Given the description of an element on the screen output the (x, y) to click on. 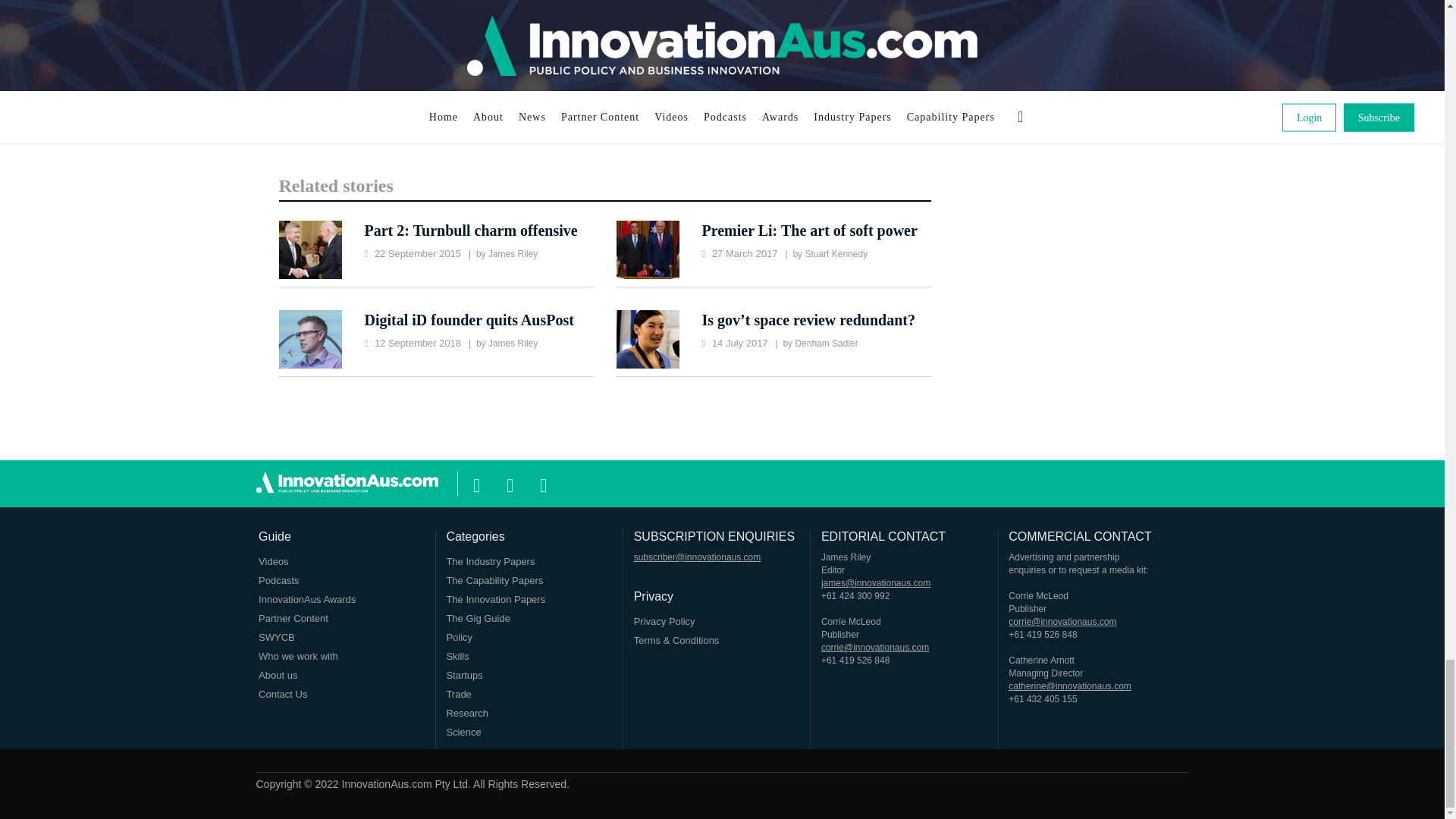
ion-social-linkedin (543, 482)
prev post (344, 75)
next post (857, 75)
ion-social-twitter (510, 482)
ion-social-facebook (476, 482)
